Given the description of an element on the screen output the (x, y) to click on. 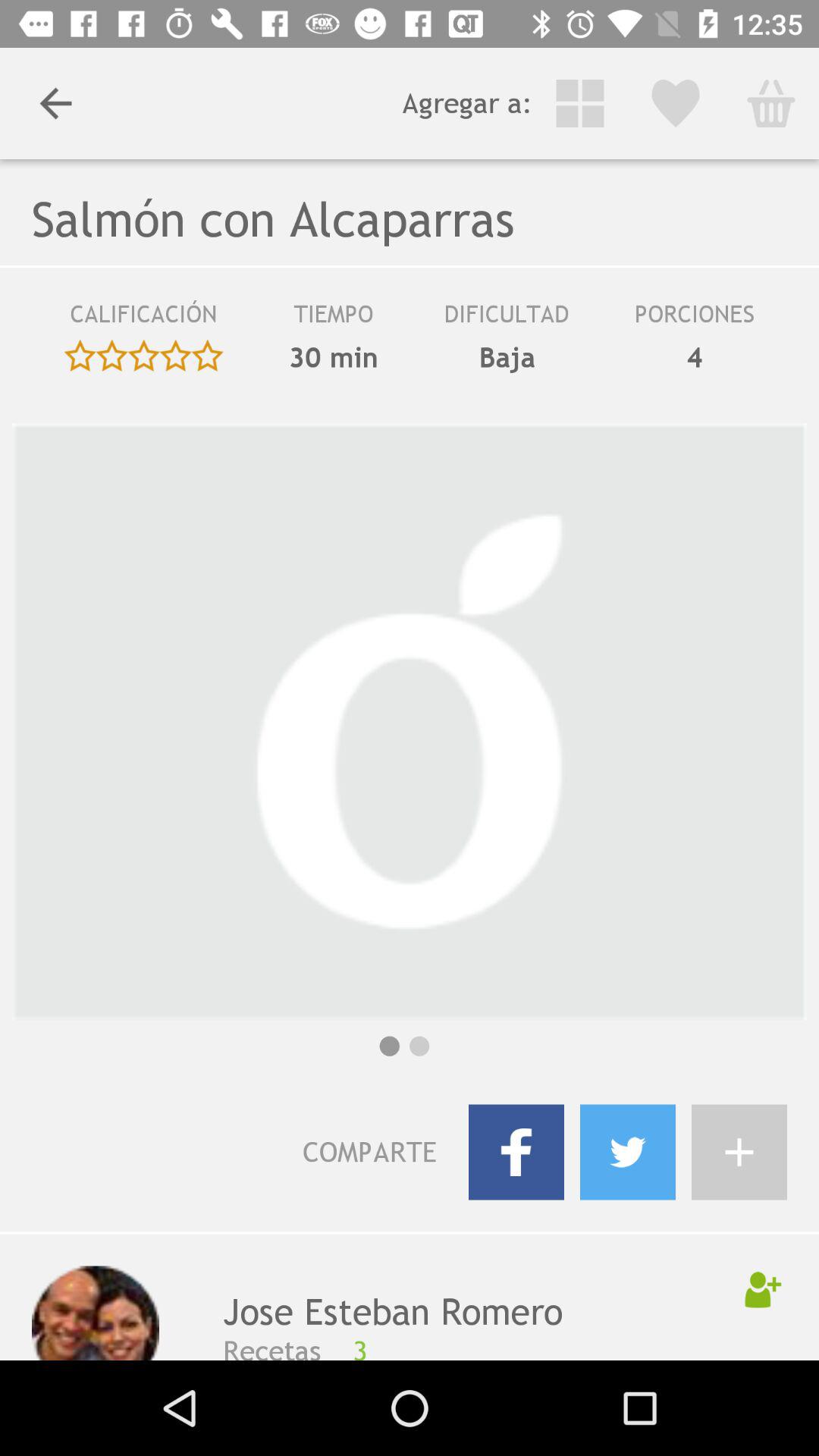
click baja icon (506, 357)
